Given the description of an element on the screen output the (x, y) to click on. 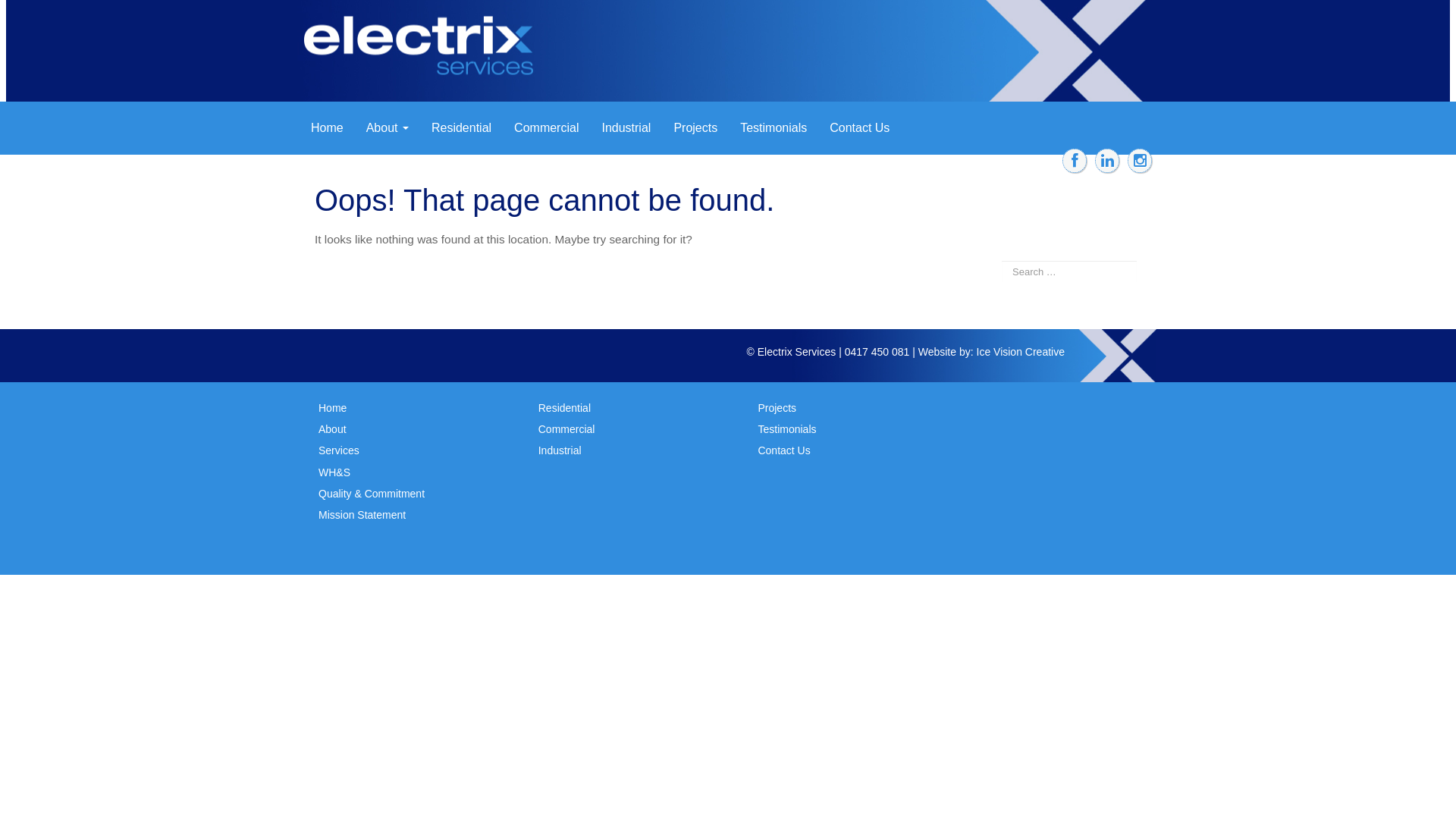
Projects Element type: text (695, 127)
Electrix Services Facebook Element type: hover (1074, 160)
Commercial Element type: text (545, 127)
Mission Statement Element type: text (361, 514)
Contact Us Element type: text (859, 127)
About Element type: text (387, 127)
Home Element type: text (326, 127)
Commercial Element type: text (566, 429)
Electrix Services Instagram Element type: hover (1139, 160)
Home Element type: text (332, 407)
WH&S Element type: text (334, 472)
Electrix Services Linkedin Element type: hover (1107, 160)
Residential Element type: text (461, 127)
Services Element type: text (338, 450)
Industrial Element type: text (625, 127)
Residential Element type: text (564, 407)
Ice Vision Creative Element type: text (1020, 351)
Testimonials Element type: text (786, 429)
Electrix Services Element type: text (424, 58)
About Element type: text (332, 429)
Contact Us Element type: text (783, 450)
Quality & Commitment Element type: text (371, 493)
Projects Element type: text (776, 407)
Testimonials Element type: text (773, 127)
Industrial Element type: text (559, 450)
